Given the description of an element on the screen output the (x, y) to click on. 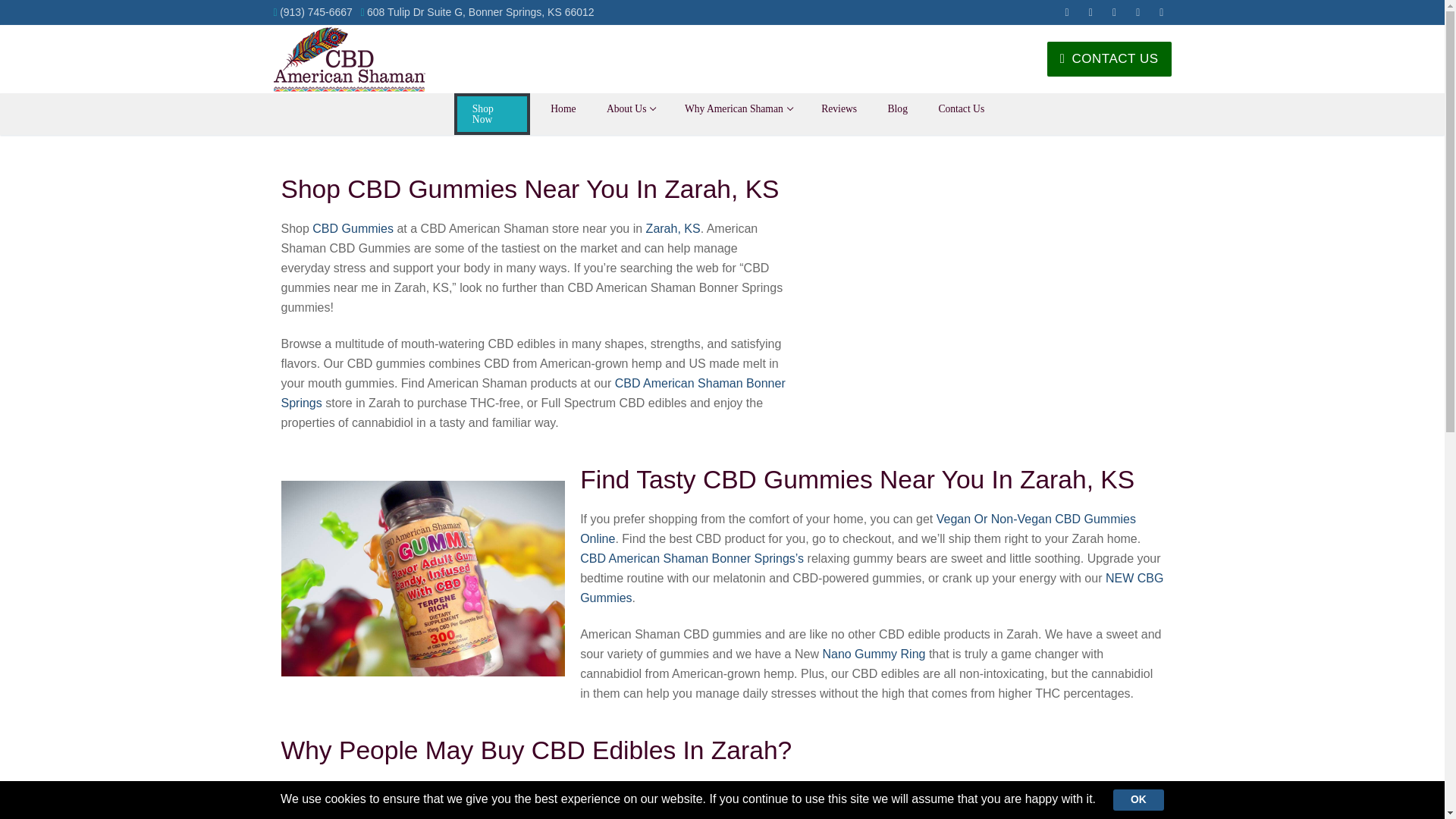
Facebook (629, 109)
Youtube (1066, 12)
Instagram (1161, 12)
Blog (1114, 12)
Shop Now (897, 109)
Yelp (491, 114)
Reviews (737, 109)
Home (1137, 12)
